Given the description of an element on the screen output the (x, y) to click on. 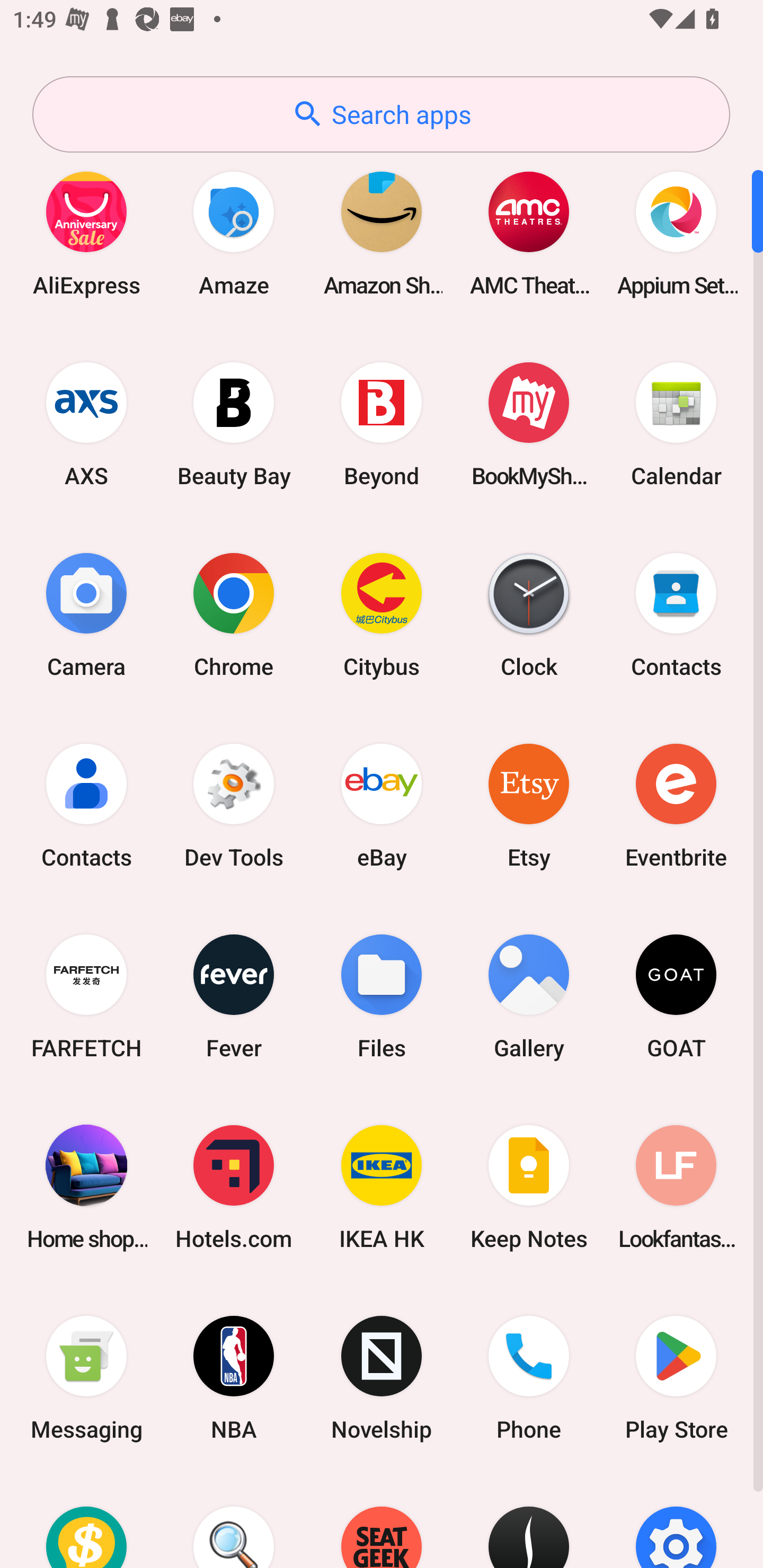
  Search apps (381, 114)
AliExpress (86, 233)
Amaze (233, 233)
Amazon Shopping (381, 233)
AMC Theatres (528, 233)
Appium Settings (676, 233)
AXS (86, 424)
Beauty Bay (233, 424)
Beyond (381, 424)
BookMyShow (528, 424)
Calendar (676, 424)
Camera (86, 614)
Chrome (233, 614)
Citybus (381, 614)
Clock (528, 614)
Contacts (676, 614)
Contacts (86, 805)
Dev Tools (233, 805)
eBay (381, 805)
Etsy (528, 805)
Eventbrite (676, 805)
FARFETCH (86, 996)
Fever (233, 996)
Files (381, 996)
Gallery (528, 996)
GOAT (676, 996)
Home shopping (86, 1186)
Hotels.com (233, 1186)
IKEA HK (381, 1186)
Keep Notes (528, 1186)
Lookfantastic (676, 1186)
Messaging (86, 1377)
NBA (233, 1377)
Novelship (381, 1377)
Phone (528, 1377)
Play Store (676, 1377)
